Given the description of an element on the screen output the (x, y) to click on. 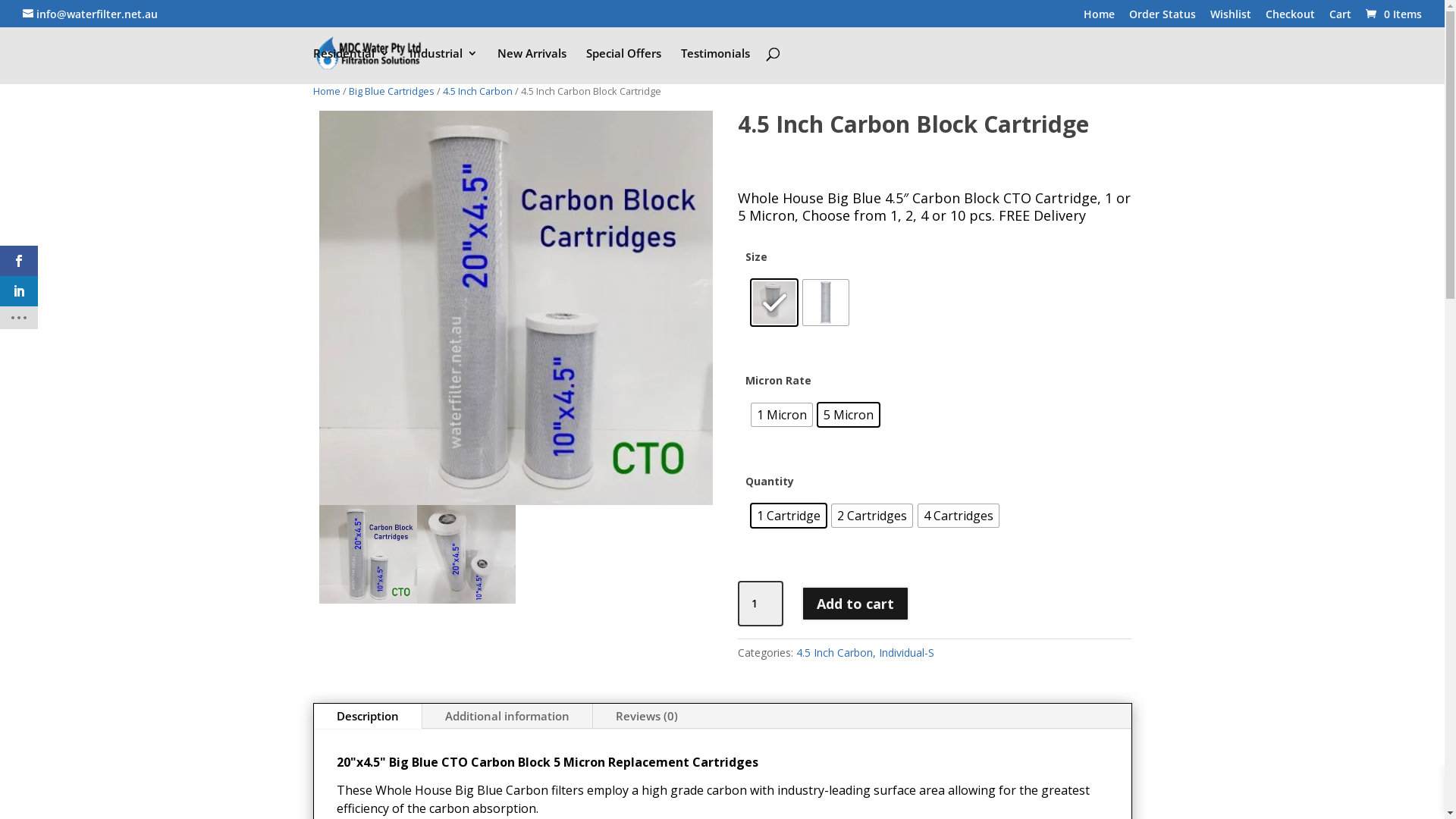
Industrial Element type: text (443, 65)
Additional information Element type: text (506, 716)
Big Blue Cartridges Element type: text (391, 90)
info@waterfilter.net.au Element type: text (89, 13)
Individual-S Element type: text (906, 652)
Testimonials Element type: text (714, 65)
Cart Element type: text (1340, 18)
Special Offers Element type: text (622, 65)
4.5 Inch Carbon Element type: text (477, 90)
New Arrivals Element type: text (531, 65)
Home Element type: text (1098, 18)
Checkout Element type: text (1289, 18)
Description Element type: text (367, 716)
Wishlist Element type: text (1230, 18)
Big Blue Carbon Block Replacement Filters Australia Element type: hover (515, 307)
Residential Element type: text (350, 65)
Big Blue Carbon Block Replacement Filters Australia Element type: hover (367, 554)
Reviews (0) Element type: text (646, 716)
CTO Big Blue Carbon block Filters Australia Element type: hover (466, 554)
10"x4.5" Element type: hover (774, 302)
20"x4.5" Element type: hover (825, 302)
Add to cart Element type: text (855, 603)
Order Status Element type: text (1162, 18)
4.5 Inch Carbon Element type: text (834, 652)
Home Element type: text (325, 90)
0 Items Element type: text (1391, 13)
